Given the description of an element on the screen output the (x, y) to click on. 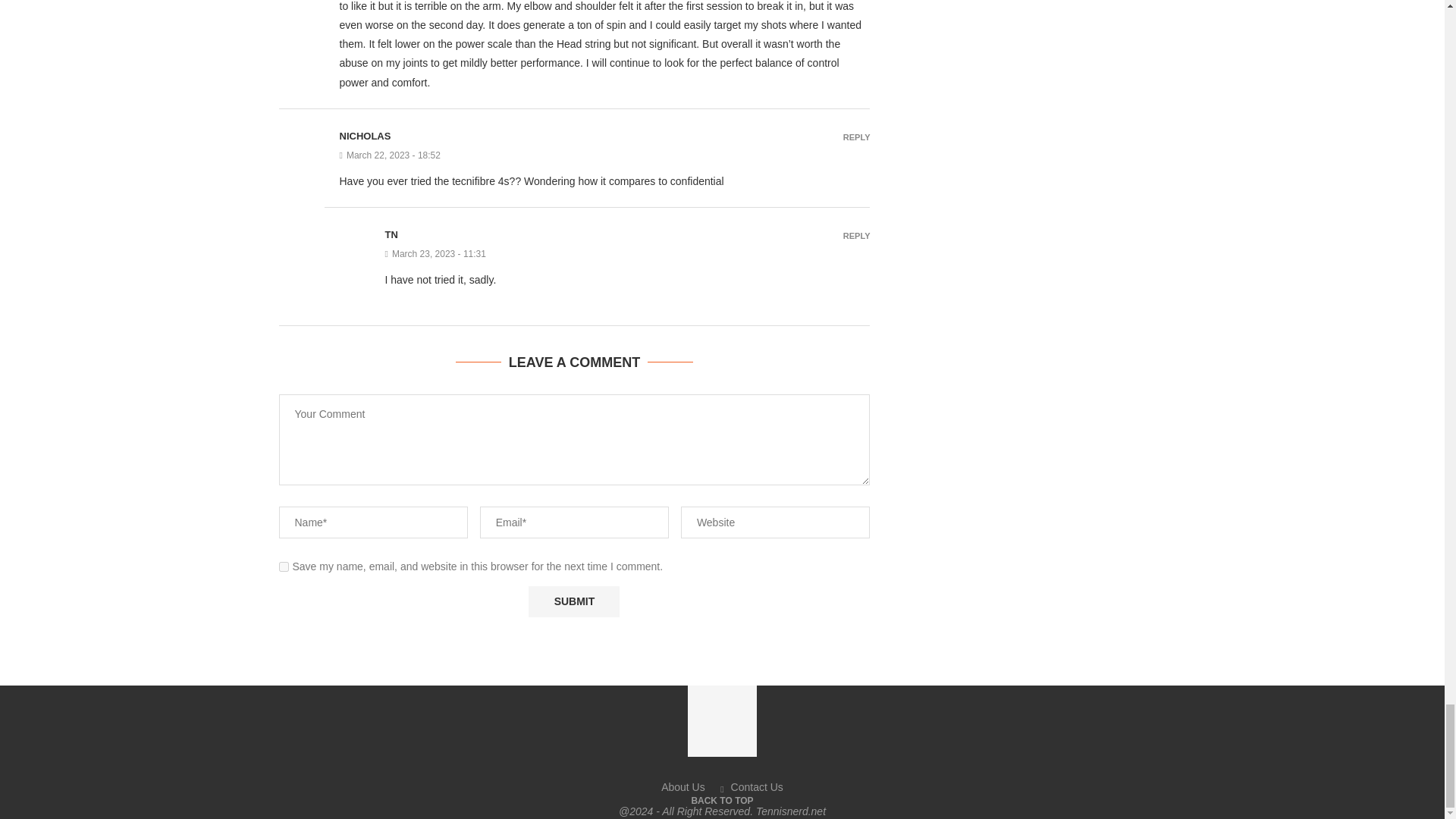
yes (283, 566)
Submit (574, 601)
